Given the description of an element on the screen output the (x, y) to click on. 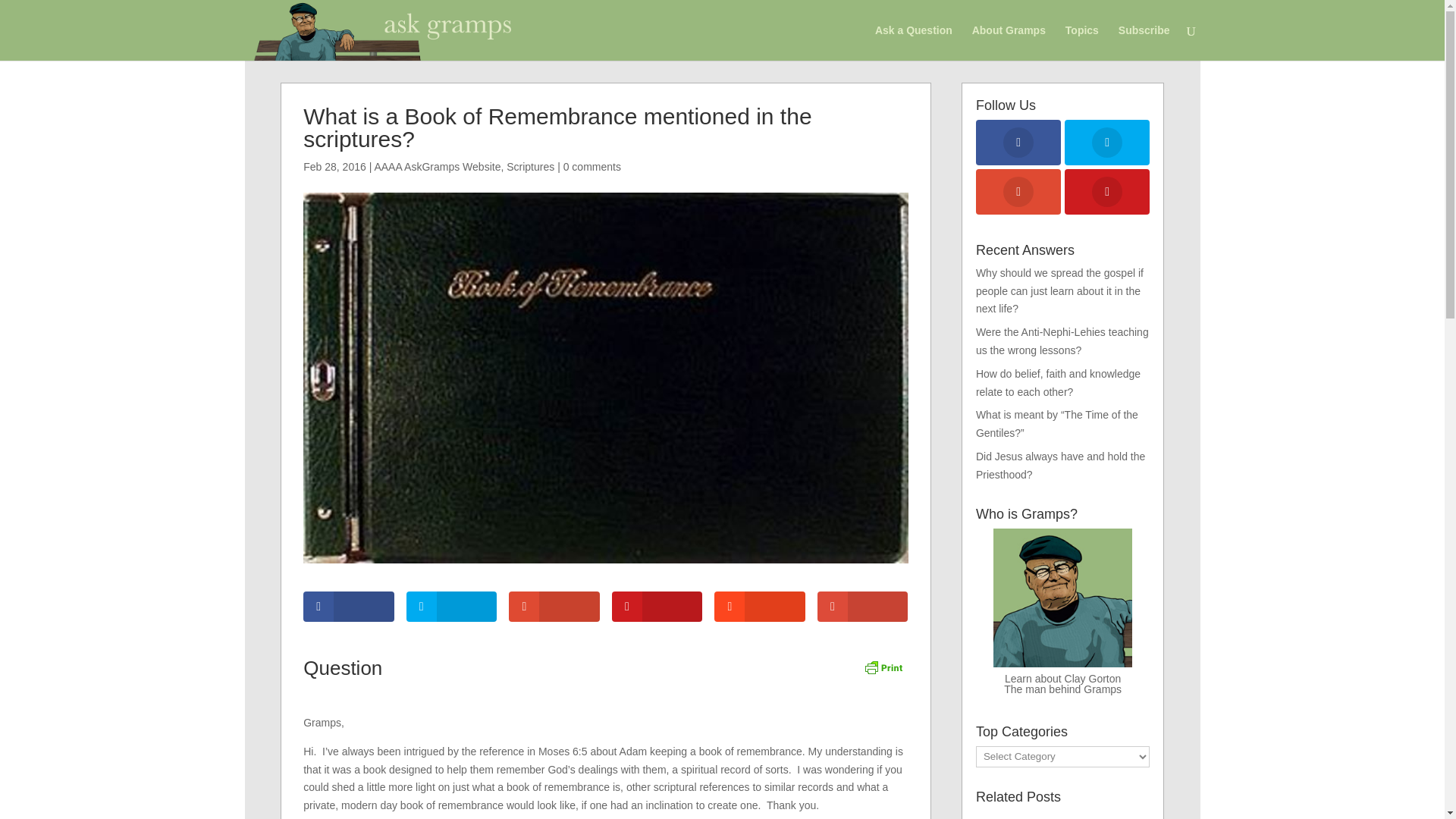
Ask a Question (913, 42)
Scriptures (530, 166)
Topics (1082, 42)
Were the Anti-Nephi-Lehies teaching us the wrong lessons? (1061, 340)
Subscribe (1144, 42)
About Gramps (1008, 42)
0 comments (592, 166)
AAAA AskGramps Website (437, 166)
